Given the description of an element on the screen output the (x, y) to click on. 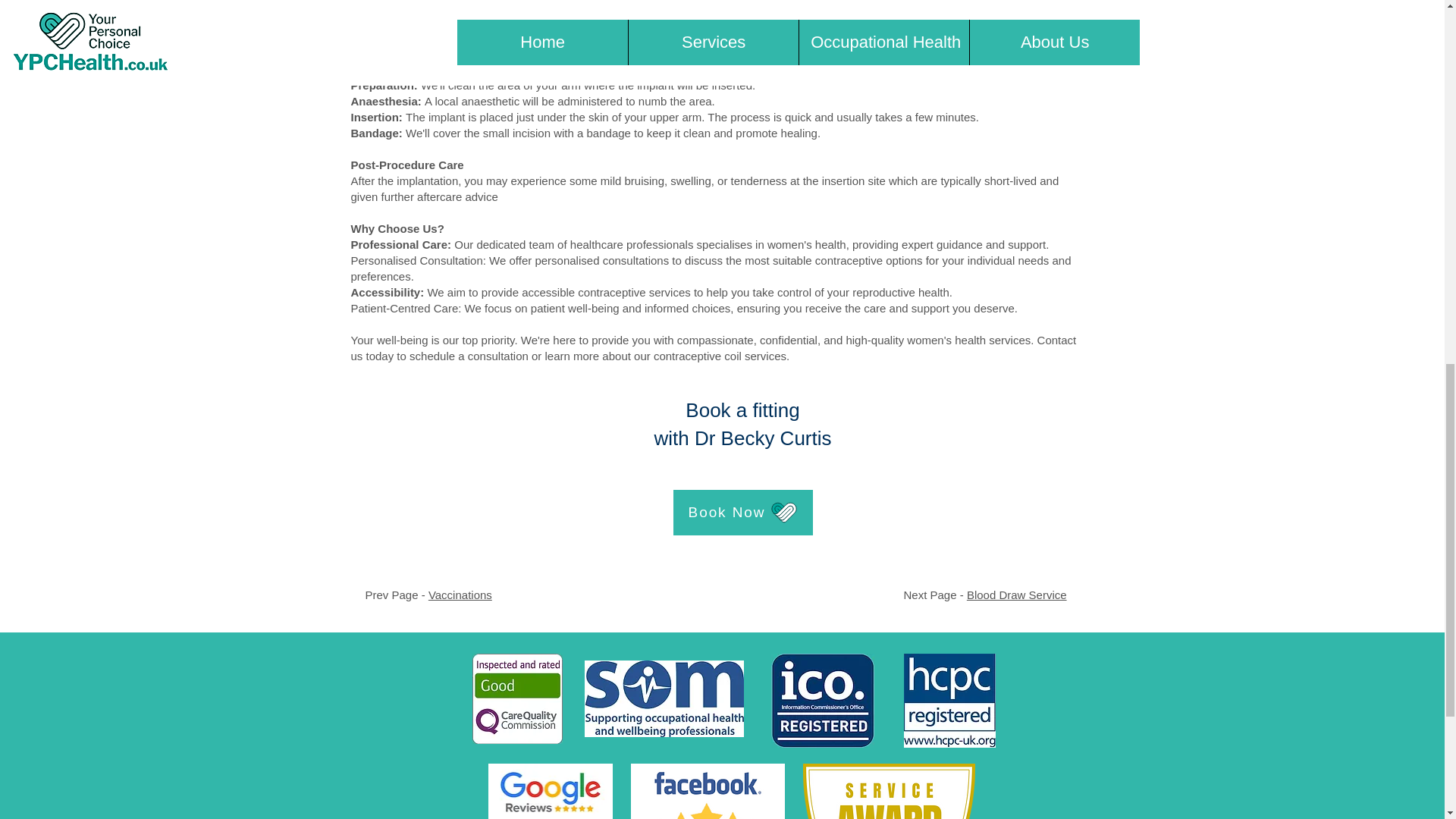
CQC Inspected and rated Good (516, 698)
ICO Registered (821, 700)
Blood Draw Service (1016, 594)
What Clinic Award 2023 (888, 791)
Supporting Occupational Health and Wellbeing Professionals (662, 698)
Book Now (742, 512)
HCPC Regisered (949, 700)
Vaccinations (460, 594)
